Given the description of an element on the screen output the (x, y) to click on. 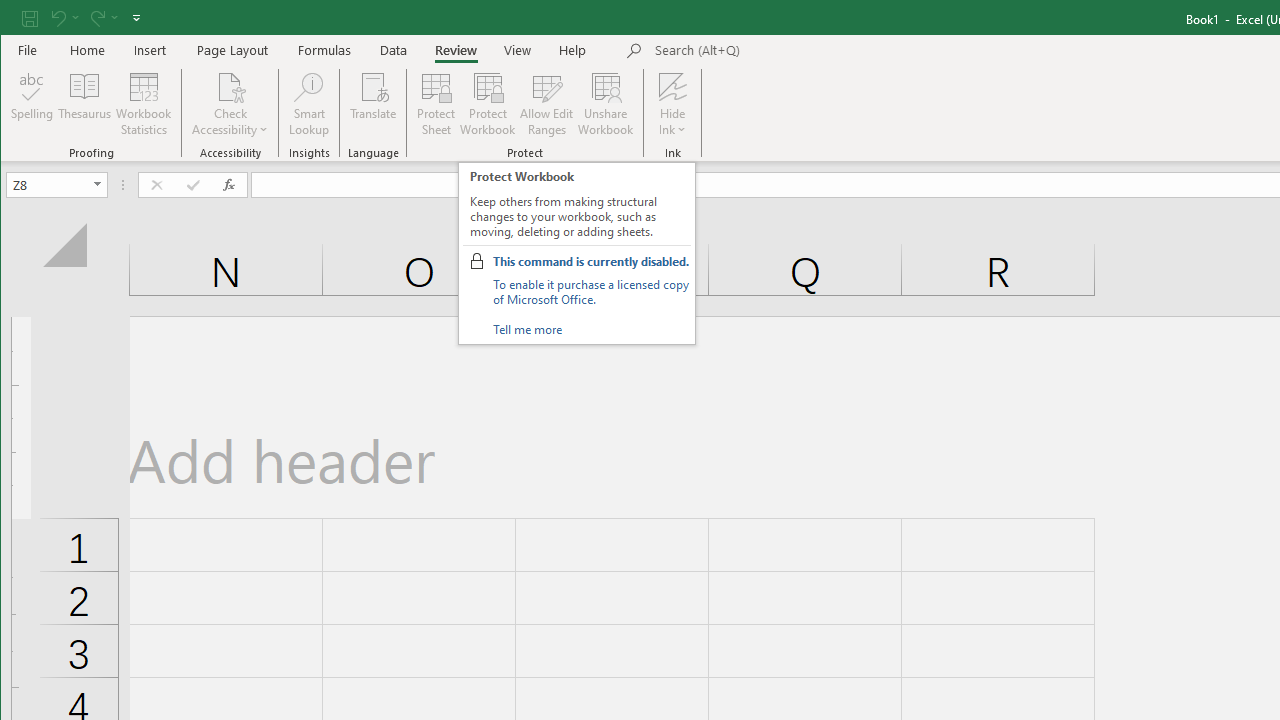
Open (98, 184)
Thesaurus... (84, 104)
Workbook Statistics (143, 104)
Protect Sheet... (436, 104)
Customize Quick Access Toolbar (136, 17)
Class: NetUIImage (476, 260)
Allow Edit Ranges (547, 104)
